Given the description of an element on the screen output the (x, y) to click on. 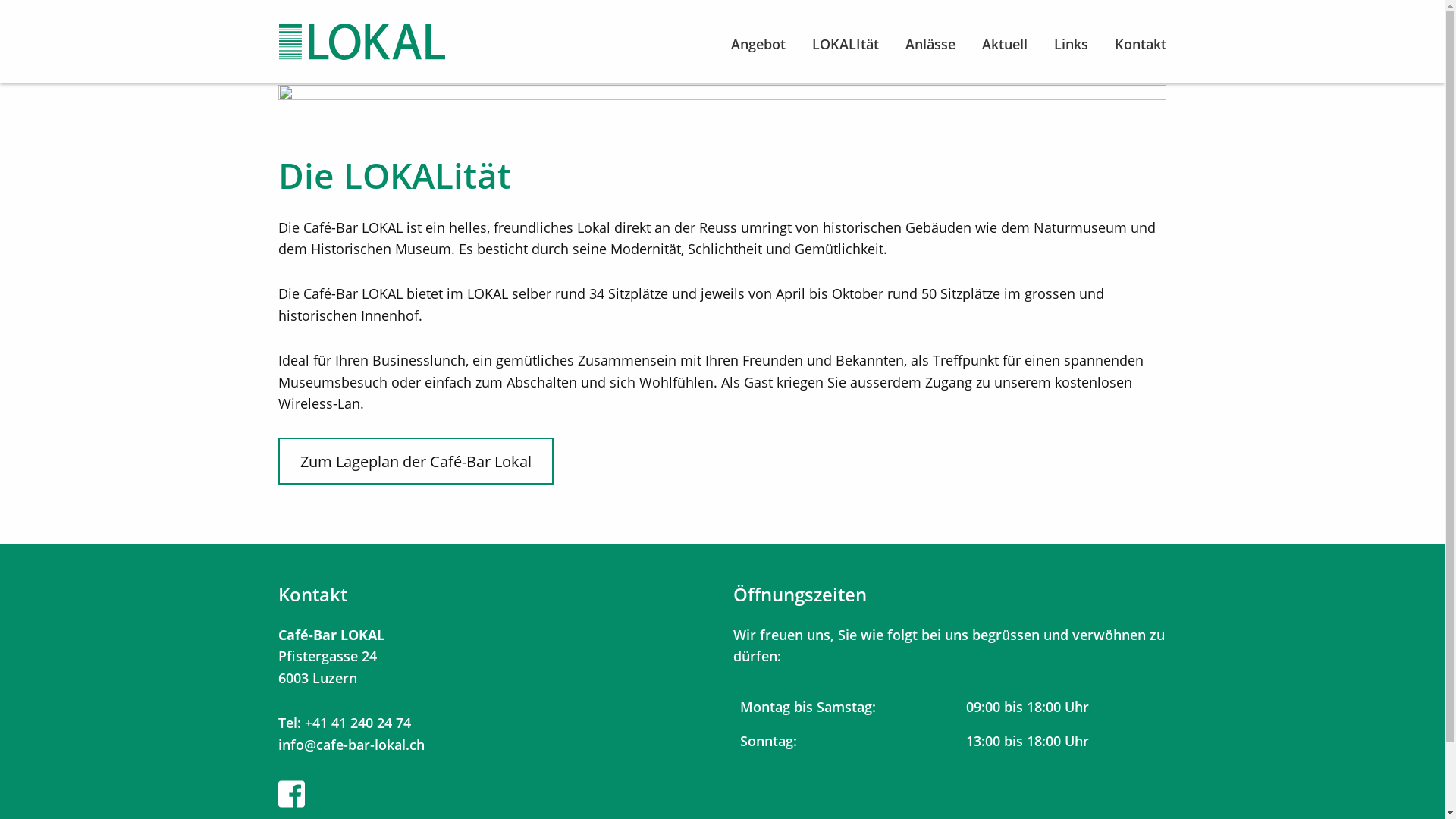
Aktuell Element type: text (1004, 41)
Kontakt Element type: text (1140, 41)
Angebot Element type: text (758, 41)
info@cafe-bar-lokal.ch Element type: text (351, 744)
Links Element type: text (1071, 41)
